Given the description of an element on the screen output the (x, y) to click on. 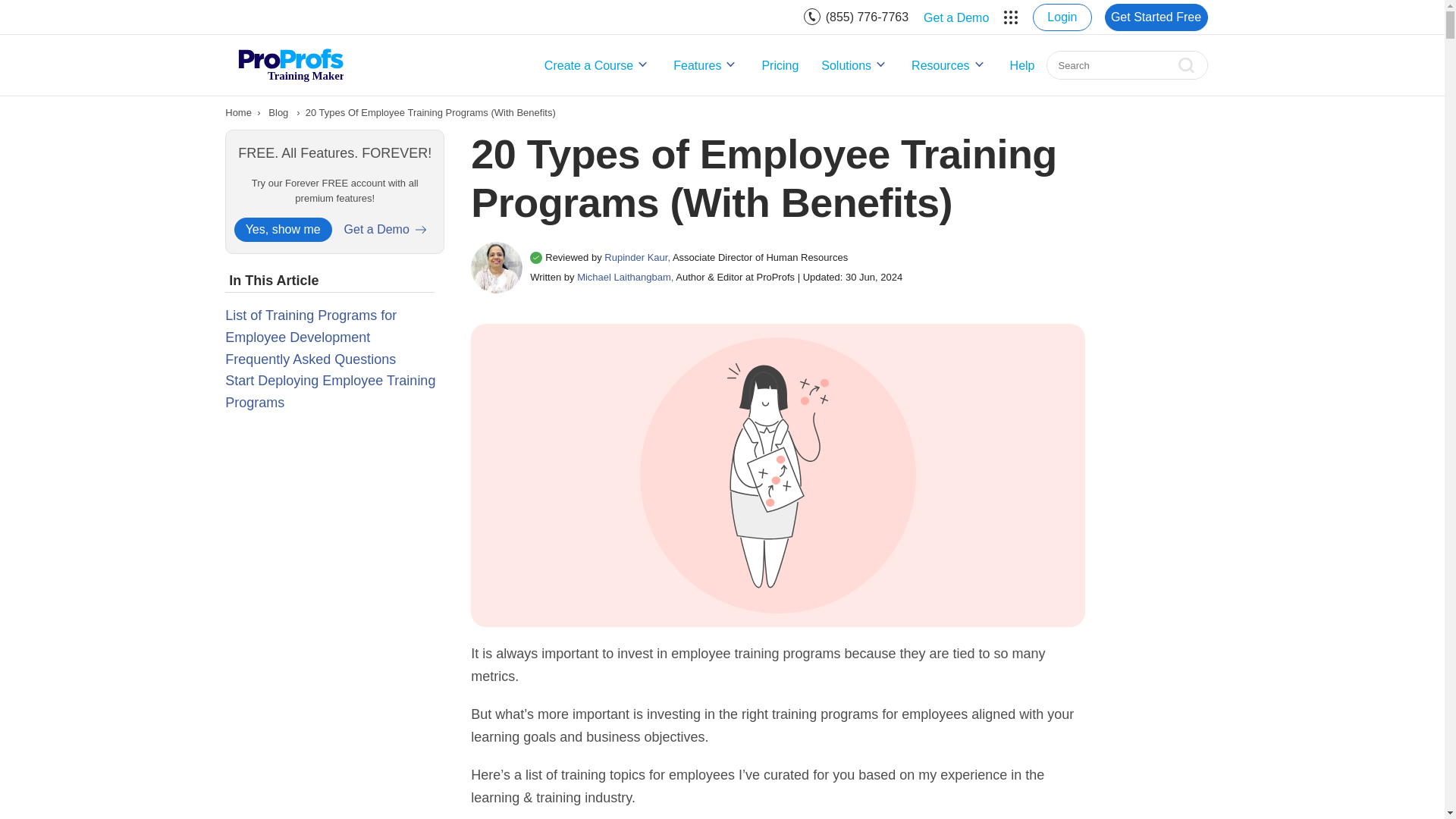
Solutions (854, 65)
Get Started Free (1155, 16)
Training Software (238, 112)
Training Maker (289, 64)
Get a Demo (955, 17)
Login (1061, 16)
Login (1061, 16)
Start Deploying Employee Training Programs (330, 391)
Training Maker (289, 64)
Blog (277, 112)
Features (705, 65)
Create a Course (597, 65)
Get a Demo (955, 17)
Get Started Free (1155, 16)
Frequently Asked Questions (310, 359)
